Given the description of an element on the screen output the (x, y) to click on. 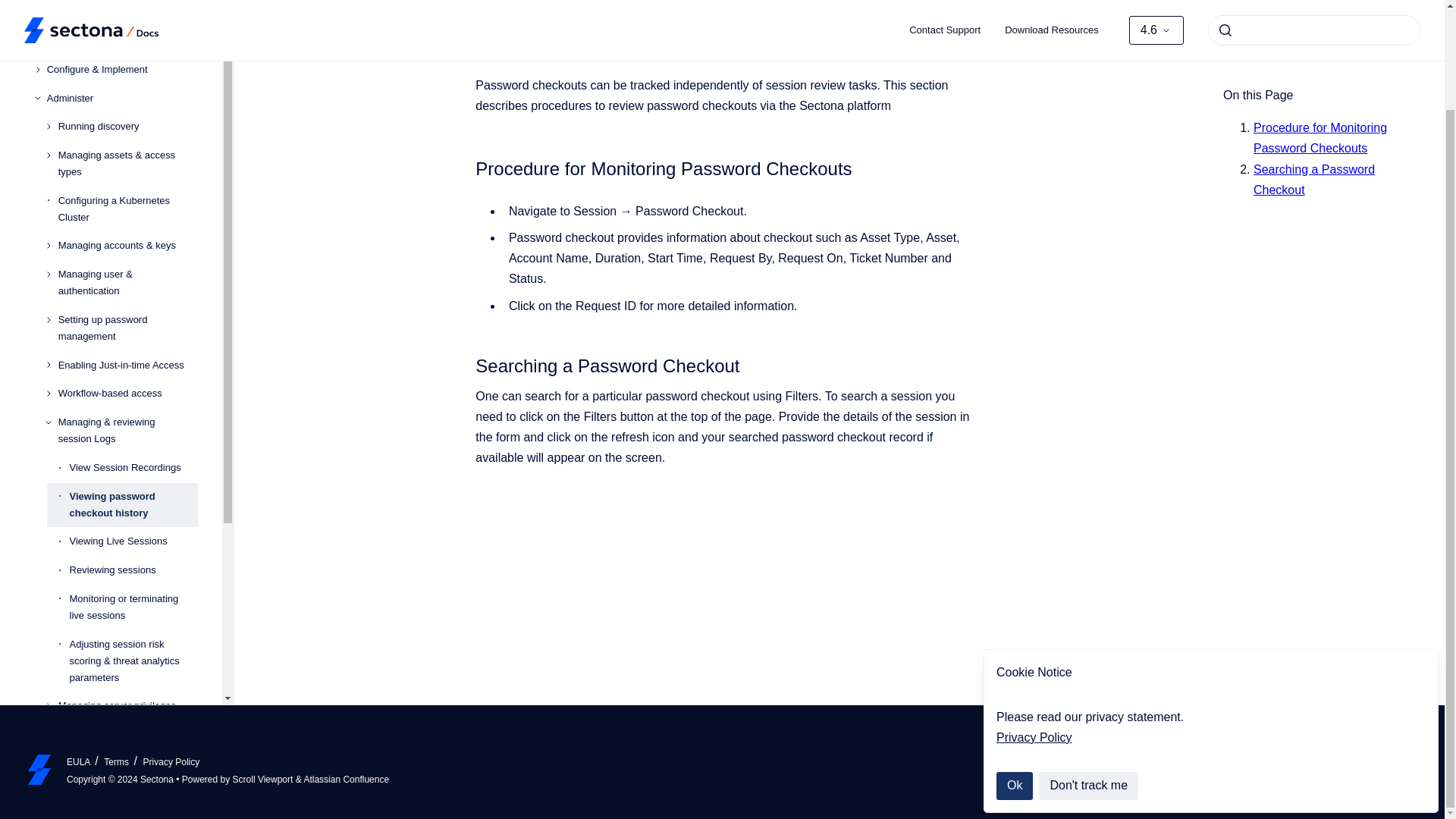
Administer (122, 98)
Copy to clipboard (468, 167)
Viewing Live Sessions (133, 542)
Configuring a Kubernetes Cluster (128, 208)
Setting up password management (128, 328)
Enabling Just-in-time Access (128, 365)
Copy to clipboard (468, 363)
Ok (1013, 670)
Privacy Policy (1033, 621)
Running discovery (128, 126)
Release Notes (122, 13)
View Session Recordings (133, 467)
Viewing password checkout history (133, 505)
Workflow-based access (128, 393)
Don't track me (1088, 670)
